Given the description of an element on the screen output the (x, y) to click on. 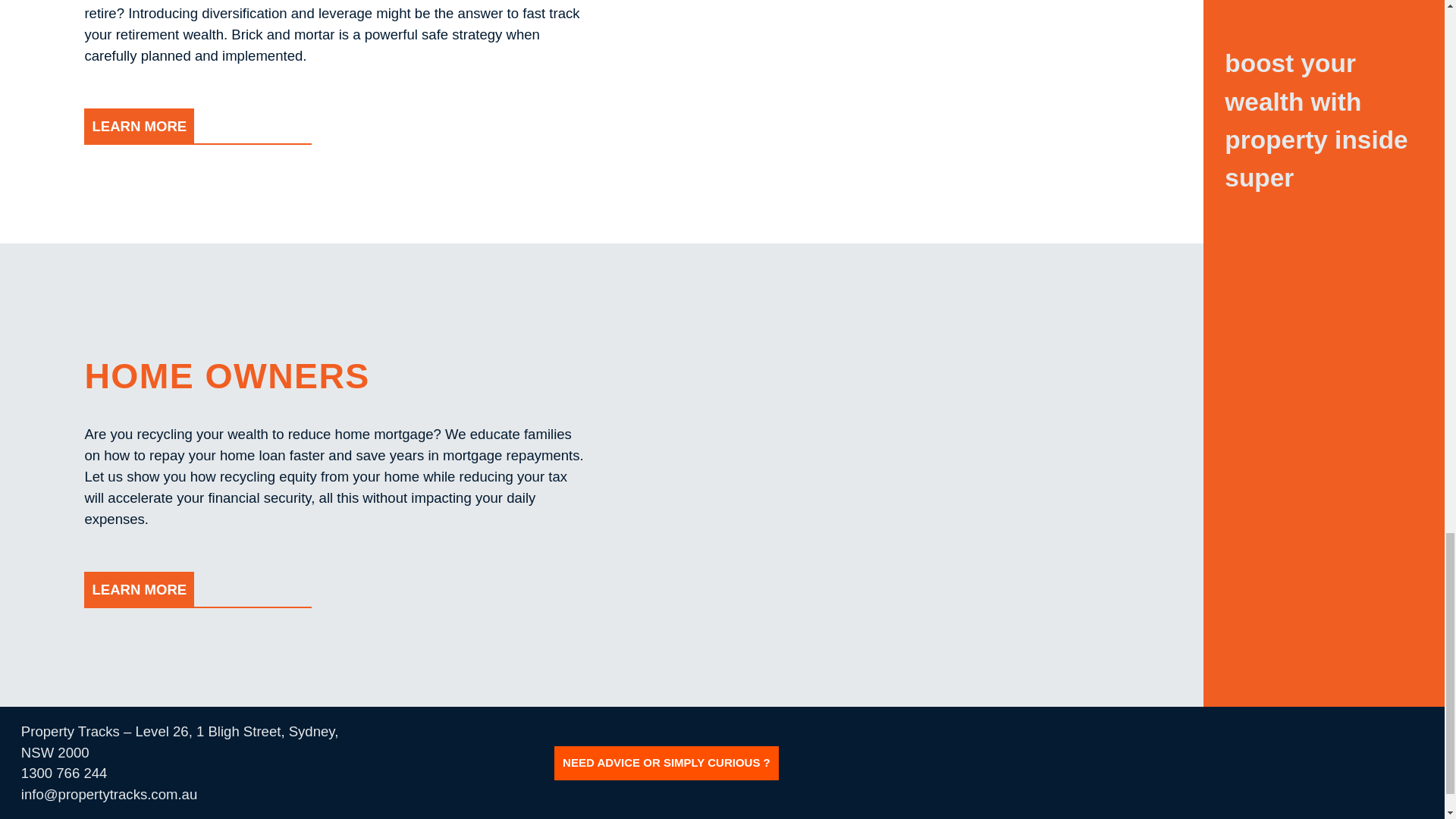
LEARN MORE (138, 589)
LEARN MORE (138, 126)
NEED ADVICE OR SIMPLY CURIOUS ? (666, 763)
